Given the description of an element on the screen output the (x, y) to click on. 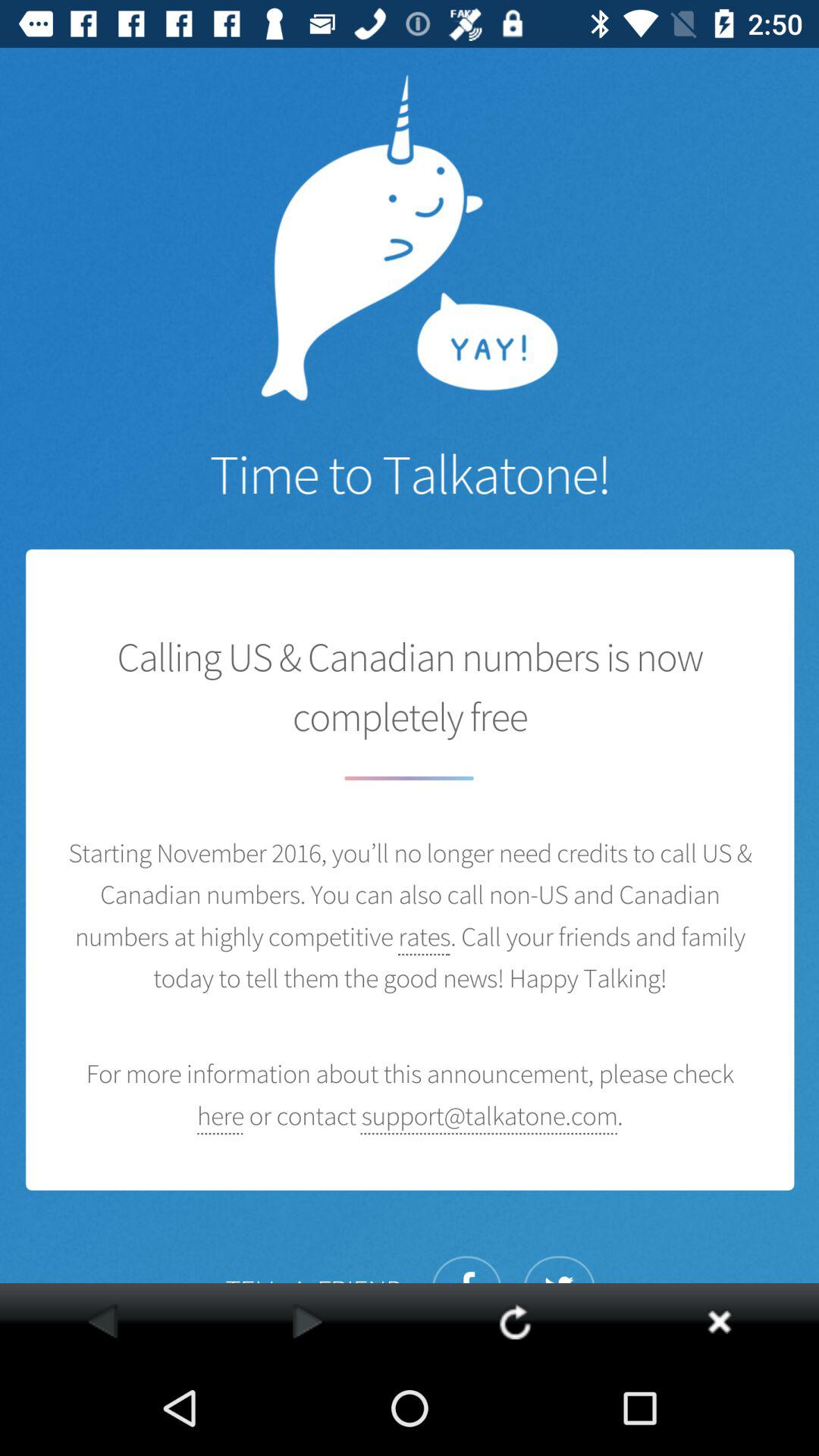
put the wrong option (719, 1321)
